Given the description of an element on the screen output the (x, y) to click on. 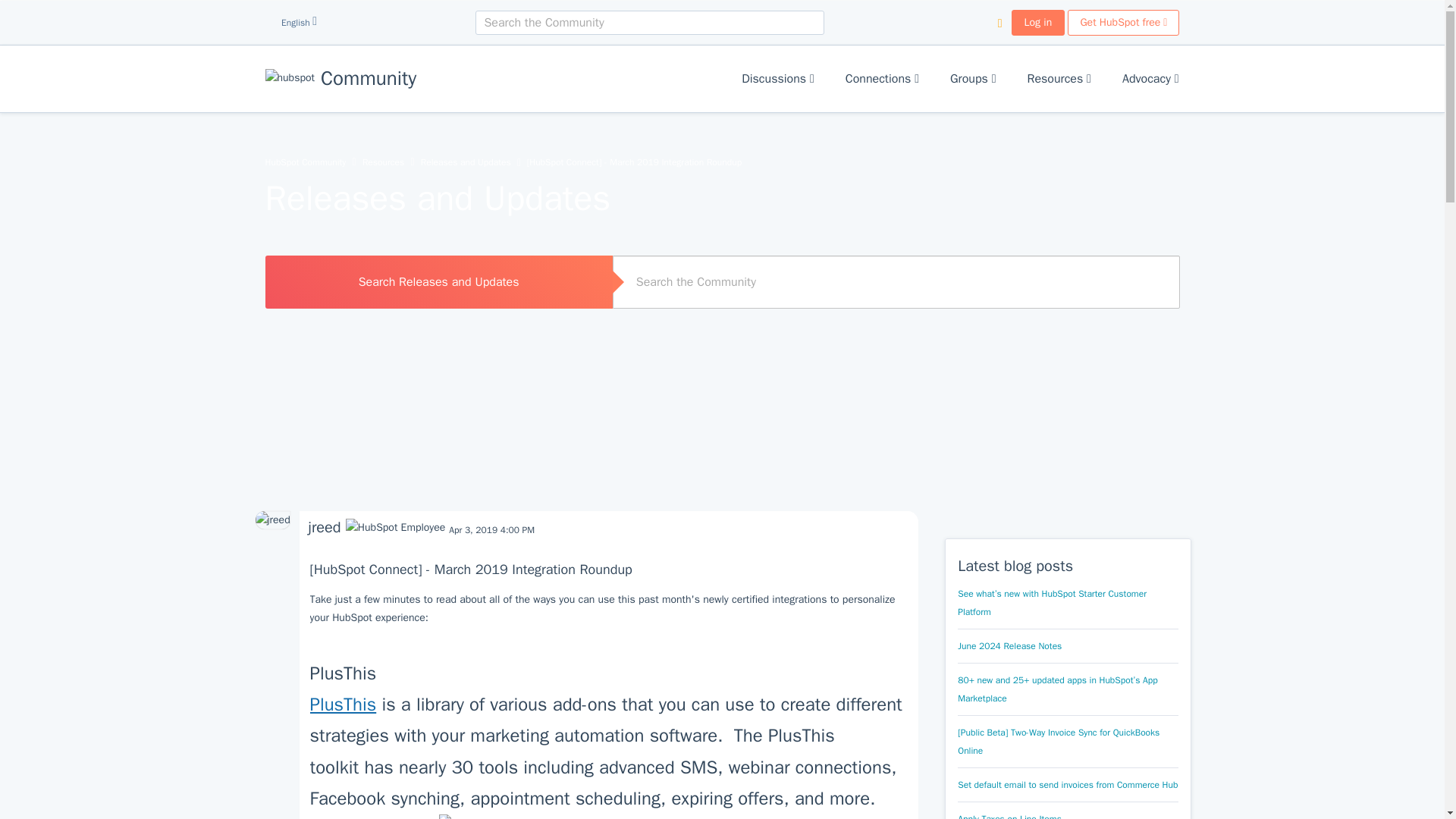
Search (801, 23)
Search (801, 23)
Search (1146, 283)
Search (1146, 283)
Search (650, 22)
